Given the description of an element on the screen output the (x, y) to click on. 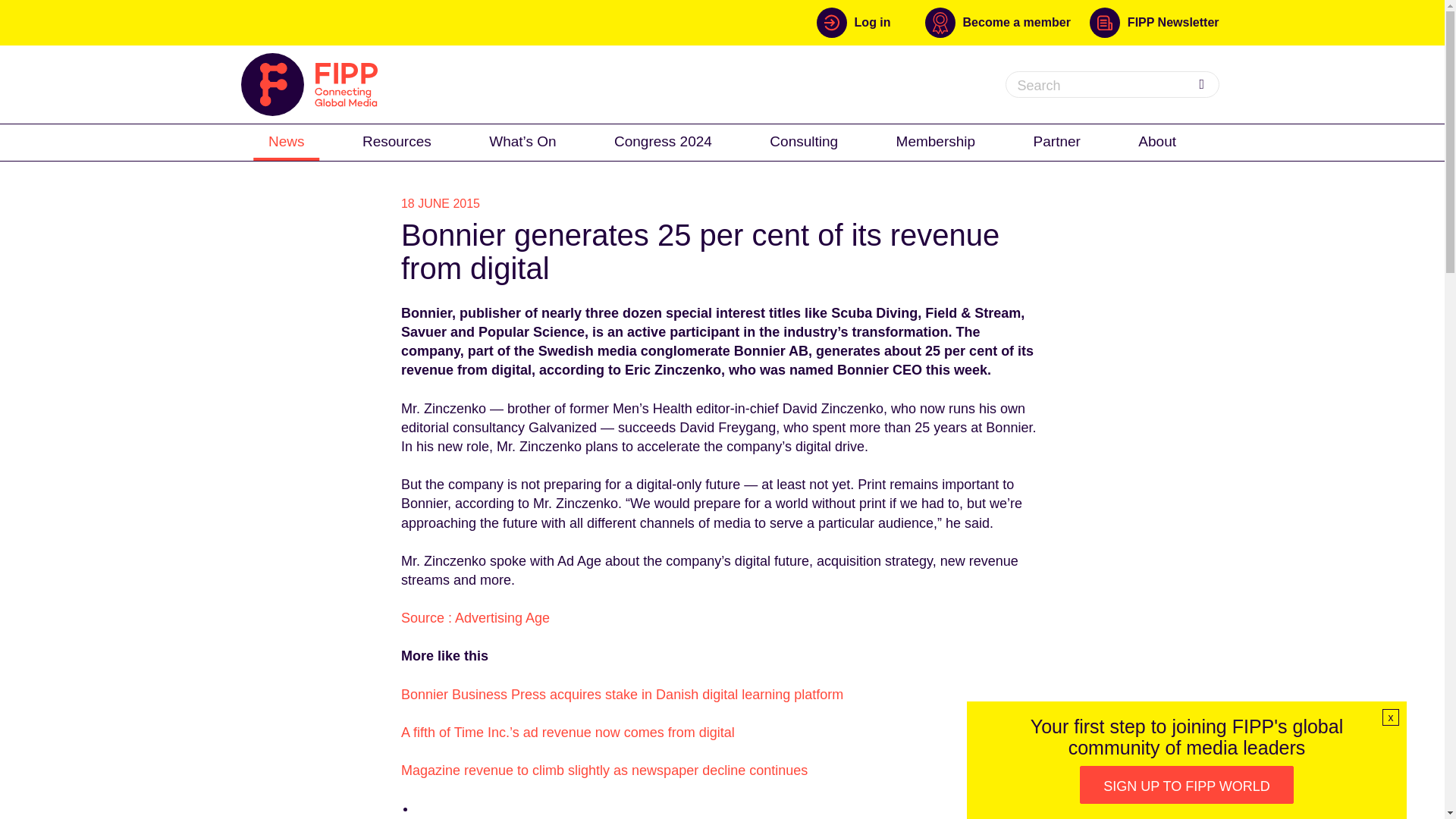
Source : Advertising Age (475, 617)
About (1156, 141)
Congress 2024 (662, 141)
Resources (396, 141)
FIPP Newsletter (1154, 22)
Popular Science (532, 331)
Consulting (803, 141)
Ad Age LookBook (532, 331)
Become a member (1006, 22)
News (286, 141)
Partner (1056, 141)
Membership (935, 141)
